Given the description of an element on the screen output the (x, y) to click on. 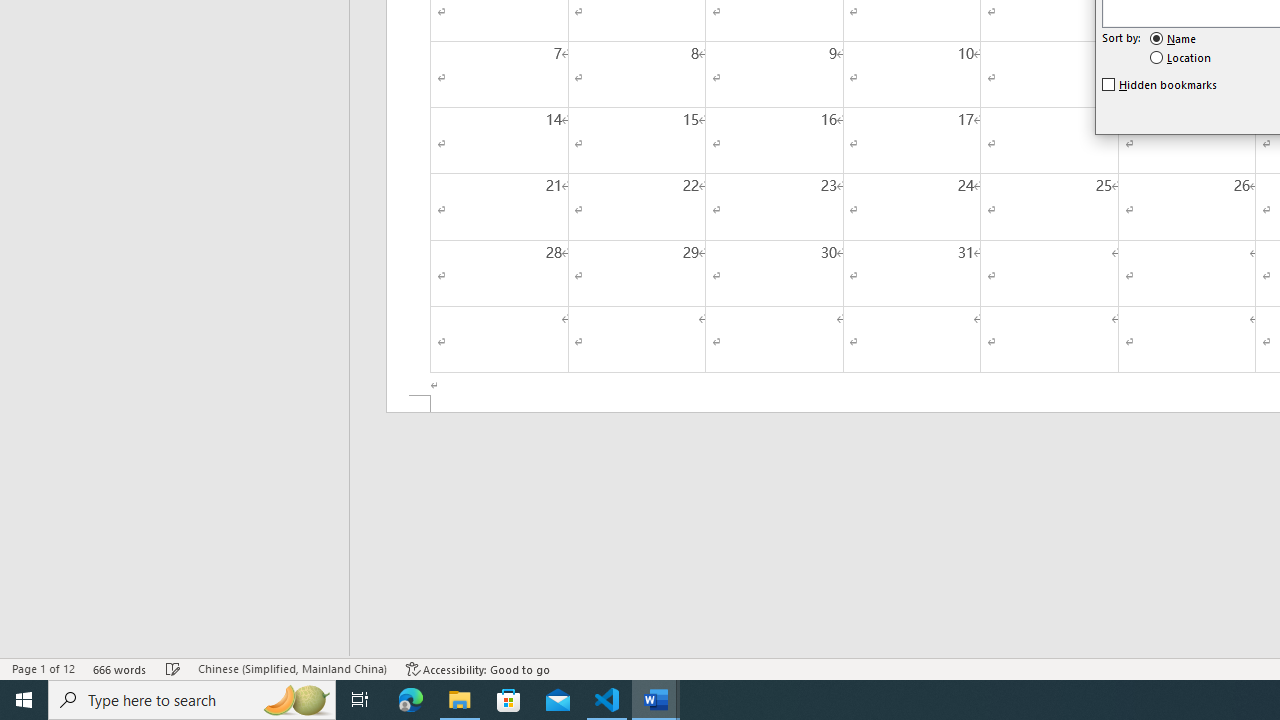
Microsoft Edge (411, 699)
Search highlights icon opens search home window (295, 699)
Start (24, 699)
Location (1181, 57)
Page Number Page 1 of 12 (43, 668)
Word Count 666 words (119, 668)
Name (1174, 38)
Type here to search (191, 699)
Spelling and Grammar Check Checking (173, 668)
Visual Studio Code - 1 running window (607, 699)
Microsoft Store (509, 699)
Word - 2 running windows (656, 699)
Task View (359, 699)
Hidden bookmarks (1160, 84)
